Given the description of an element on the screen output the (x, y) to click on. 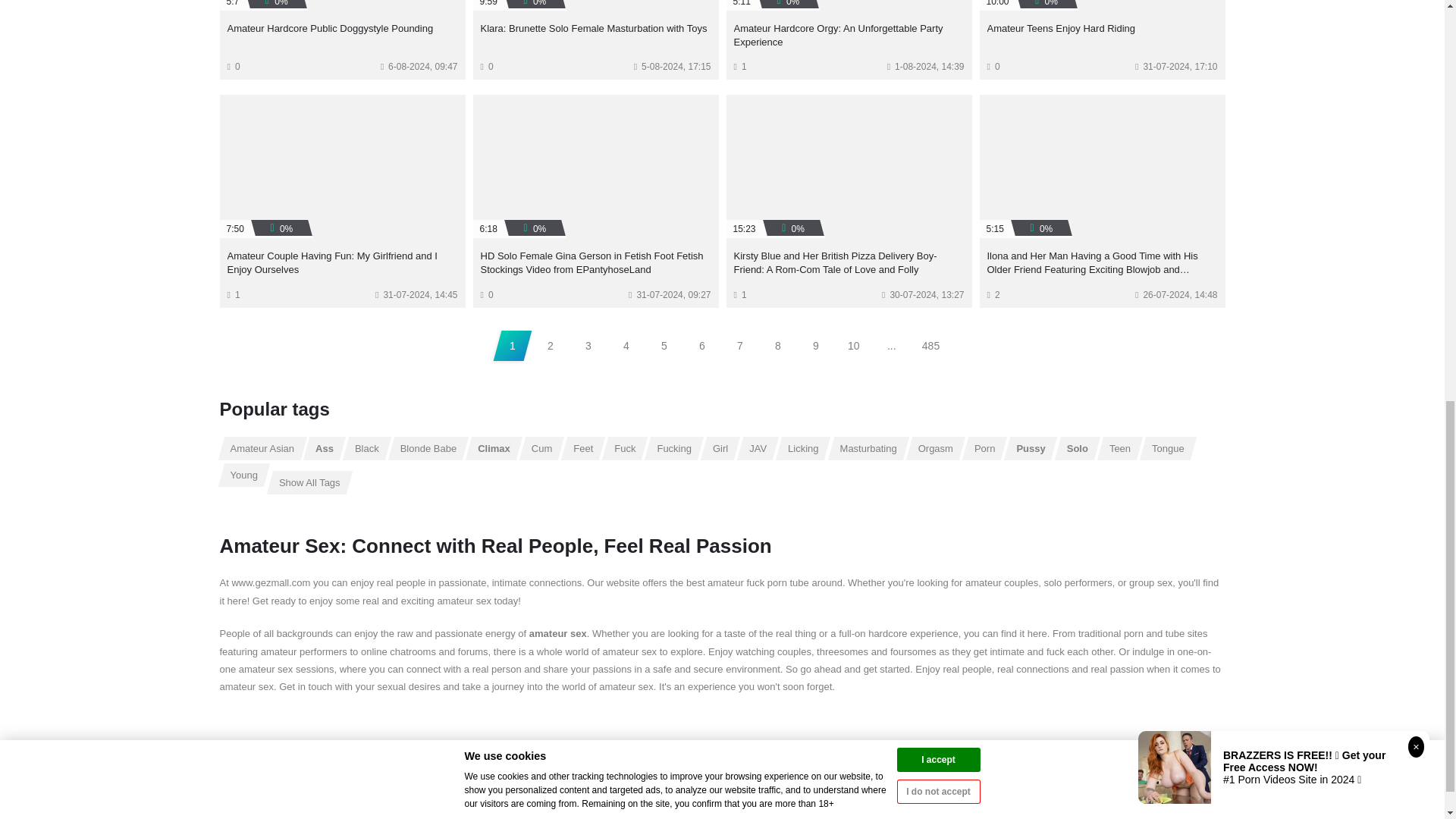
Publication found: 196 (625, 448)
Publication found: 213 (802, 448)
Publication found: 459 (541, 448)
Publication found: 1447 (1120, 448)
Publication found: 463 (935, 448)
Publication found: 310 (583, 448)
Publication found: 214 (262, 448)
Publication found: 691 (493, 448)
Publication found: 201 (757, 448)
Publication found: 802 (1030, 448)
